Given the description of an element on the screen output the (x, y) to click on. 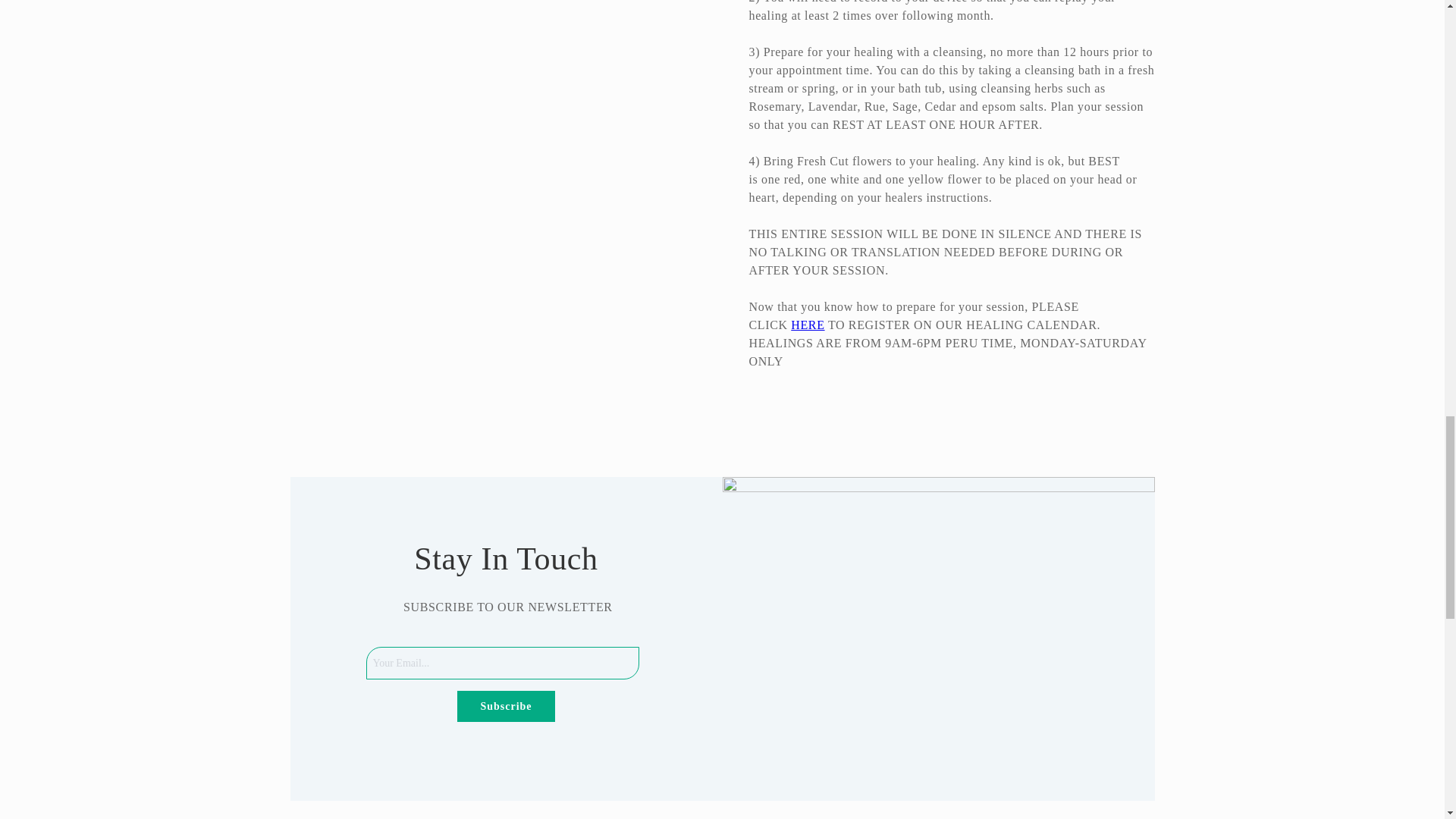
Subscribe (505, 706)
HERE (807, 324)
